Given the description of an element on the screen output the (x, y) to click on. 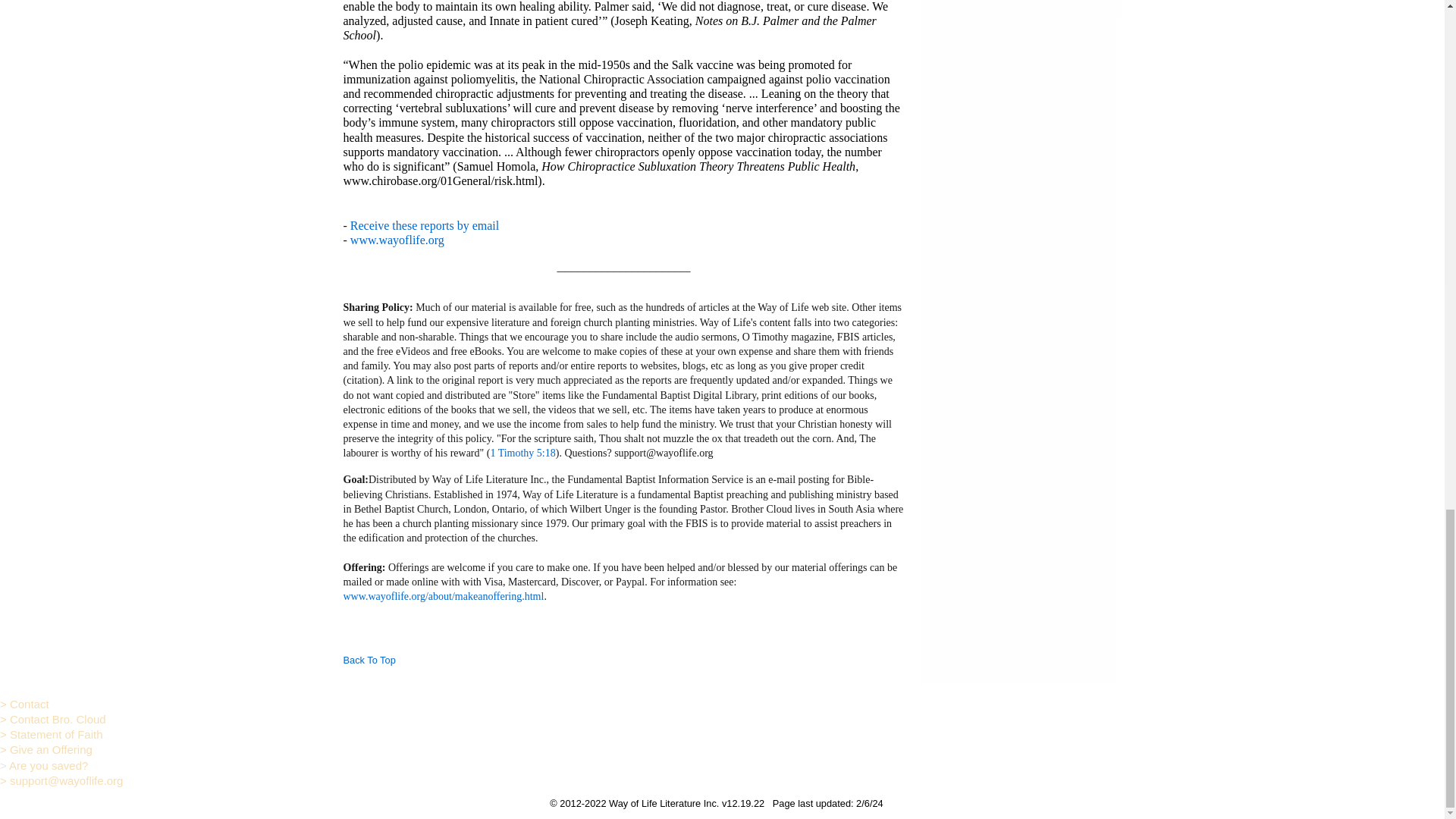
Back To Top (368, 659)
www.wayoflife.org (397, 239)
1 Timothy 5:18 (521, 452)
Receive these reports by email (424, 225)
